Given the description of an element on the screen output the (x, y) to click on. 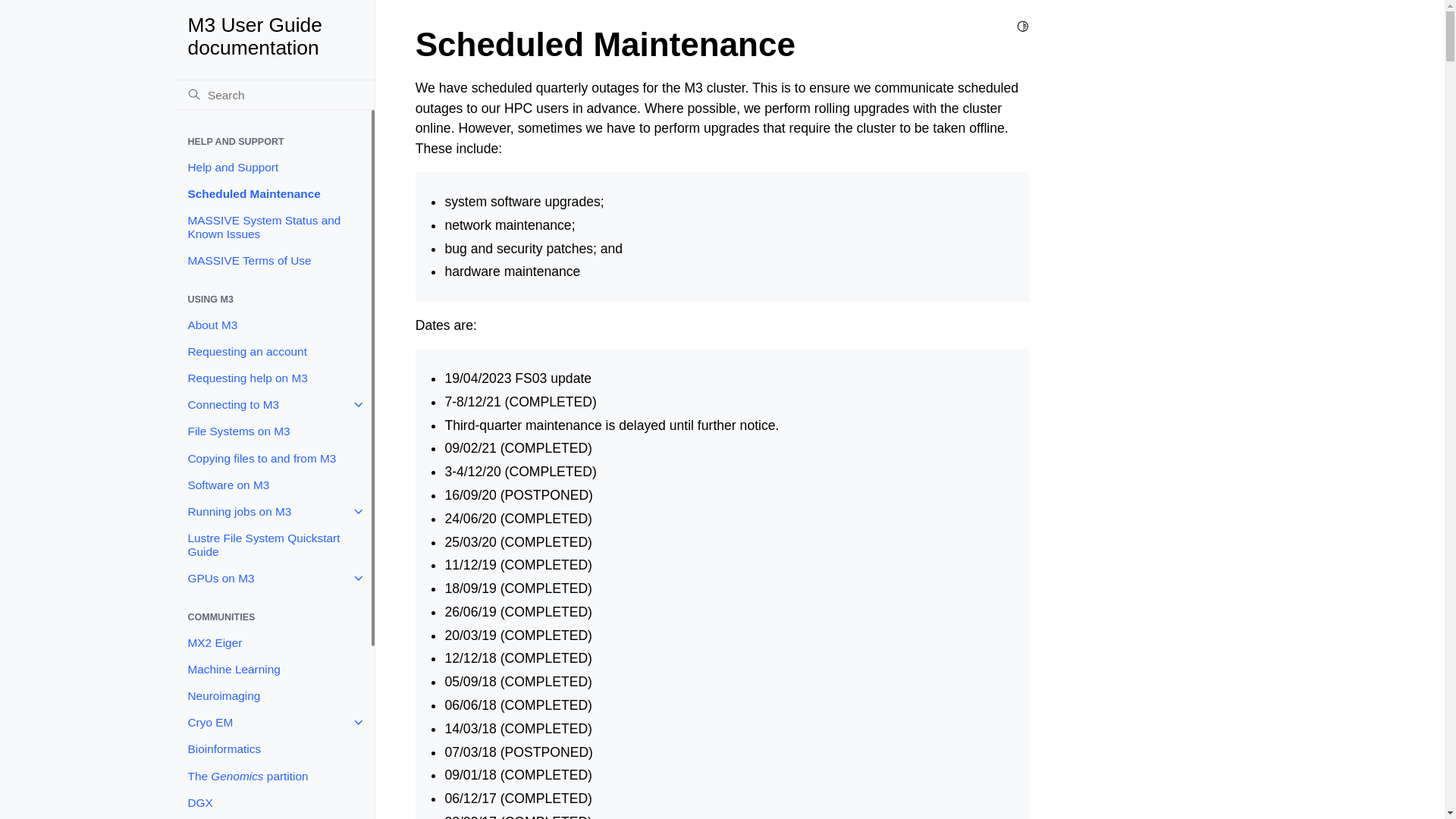
MX2 Eiger Element type: text (272, 642)
Cryo EM Element type: text (272, 722)
Neuroimaging Element type: text (272, 695)
M3 User Guide documentation Element type: text (274, 36)
DGX Element type: text (272, 802)
Requesting help on M3 Element type: text (272, 377)
Scheduled Maintenance Element type: text (272, 193)
GPUs on M3 Element type: text (272, 577)
Machine Learning Element type: text (272, 668)
Requesting an account Element type: text (272, 351)
Copying files to and from M3 Element type: text (272, 458)
Software on M3 Element type: text (272, 484)
Help and Support Element type: text (272, 166)
About M3 Element type: text (272, 324)
File Systems on M3 Element type: text (272, 431)
Connecting to M3 Element type: text (272, 404)
The Genomics partition Element type: text (272, 775)
Running jobs on M3 Element type: text (272, 511)
MASSIVE Terms of Use Element type: text (272, 260)
Bioinformatics Element type: text (272, 749)
Toggle Light / Dark / Auto color theme Element type: text (1022, 26)
Lustre File System Quickstart Guide Element type: text (272, 544)
MASSIVE System Status and Known Issues Element type: text (272, 227)
